Given the description of an element on the screen output the (x, y) to click on. 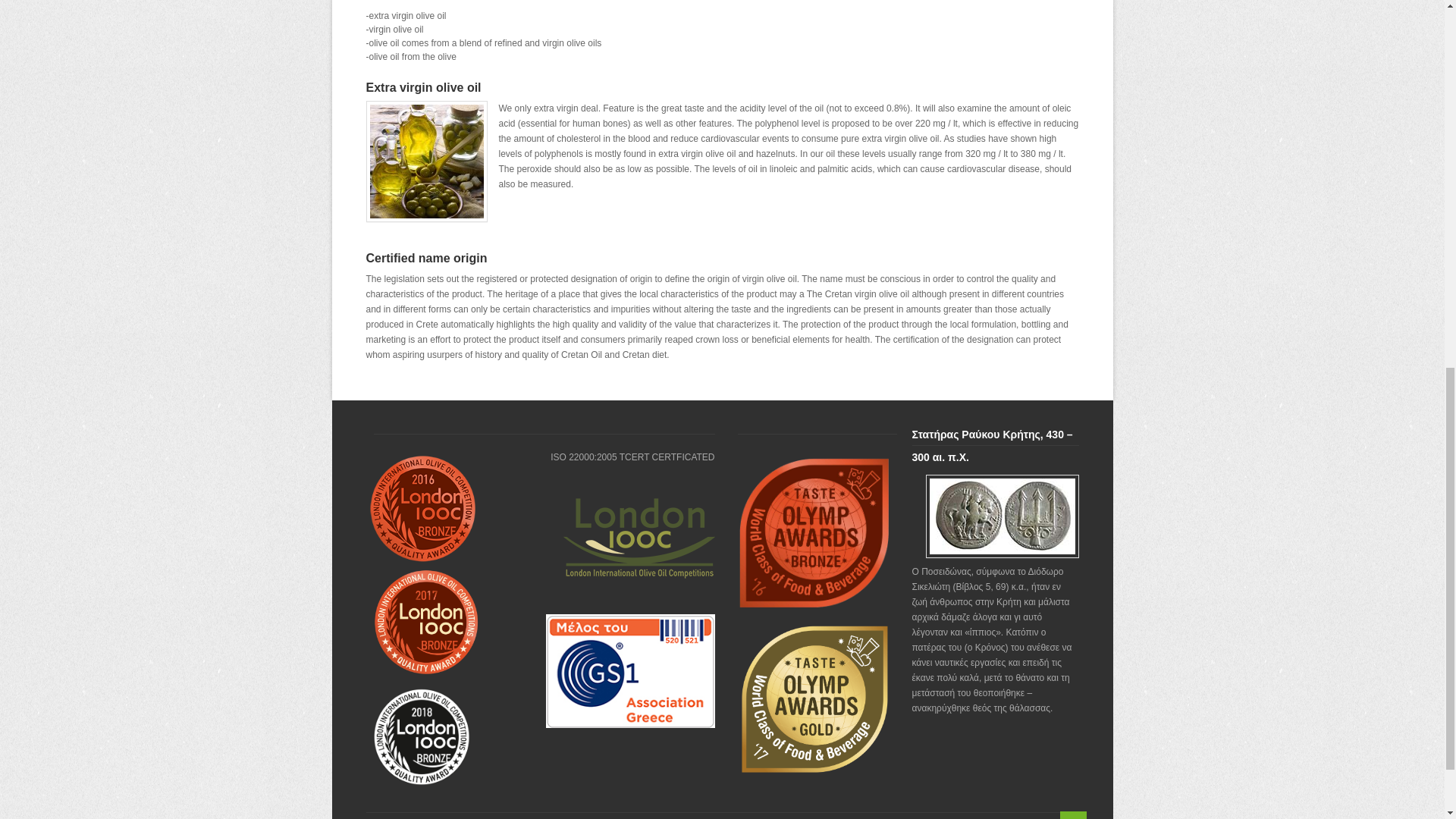
ISO 22000:2005 TCERT CERTFICATED (632, 457)
